Given the description of an element on the screen output the (x, y) to click on. 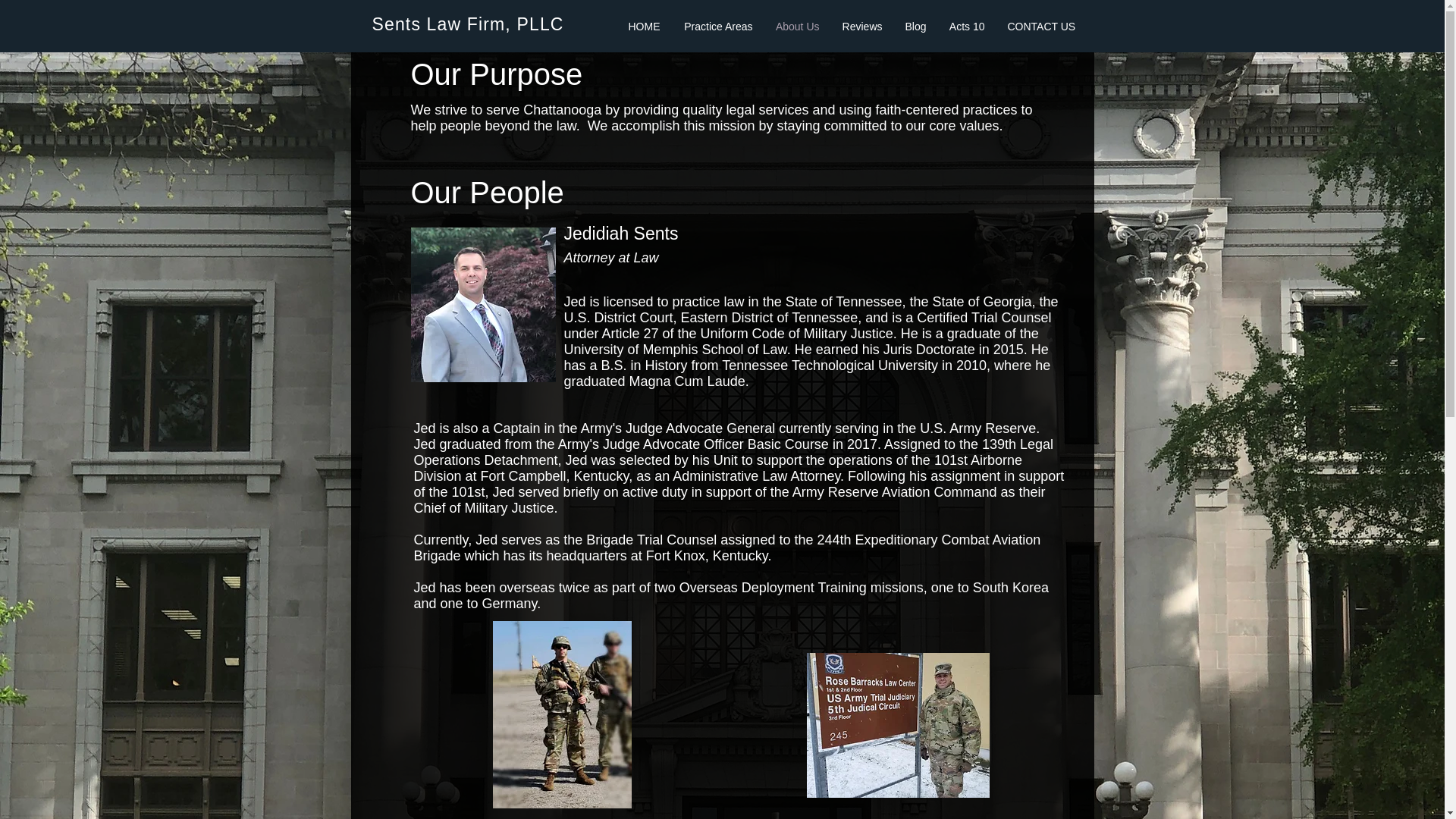
Practice Areas (717, 26)
CONTACT US (1040, 26)
Acts 10 (966, 26)
Blog (915, 26)
HOME (644, 26)
About Us (797, 26)
Reviews (862, 26)
